Given the description of an element on the screen output the (x, y) to click on. 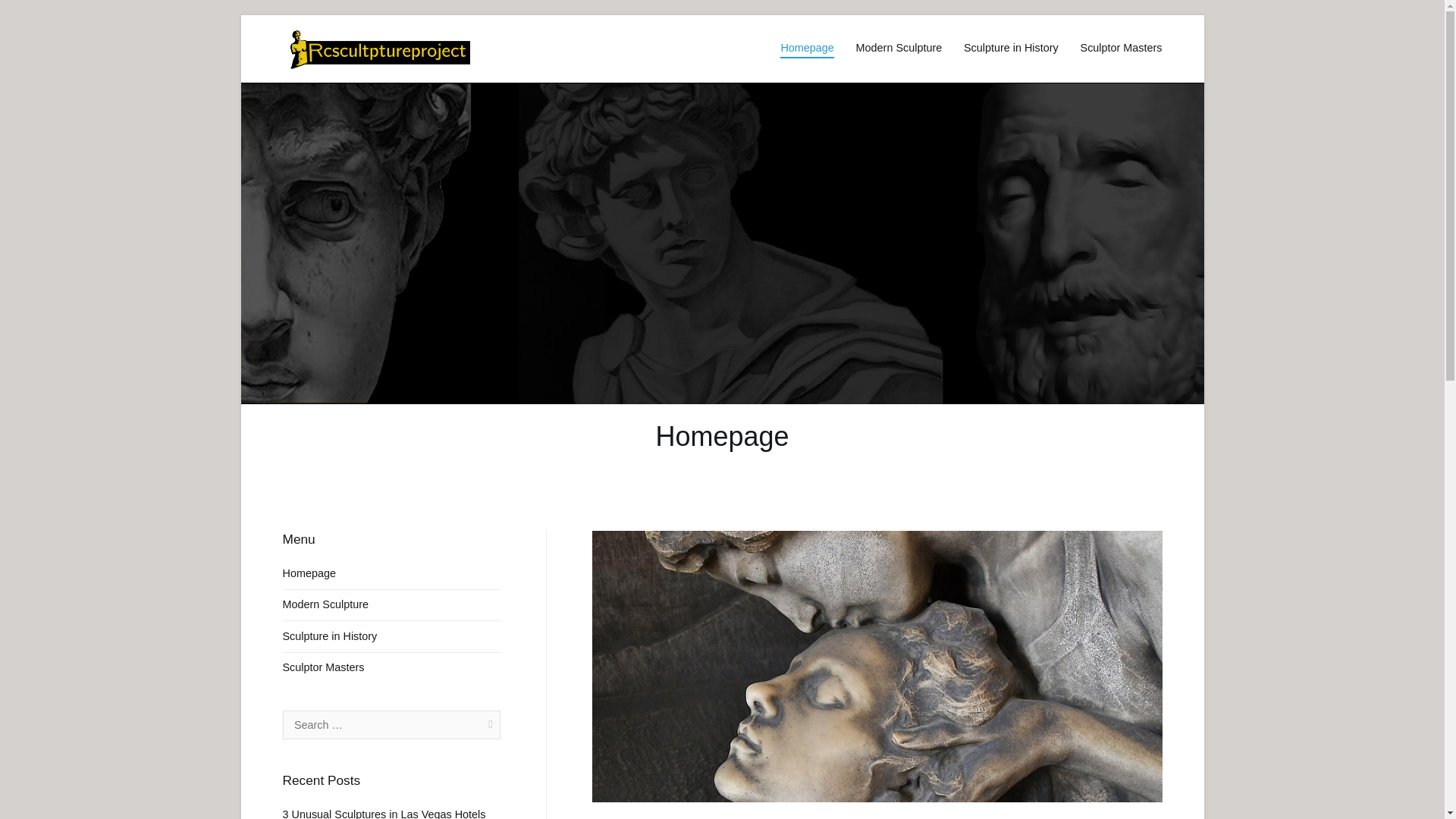
Sculpture in History (1010, 48)
Modern Sculpture (899, 48)
rcsculptureproject.com (574, 58)
3 Unusual Sculptures in Las Vegas Hotels and Casinos (390, 809)
Homepage (308, 573)
Modern Sculpture (325, 604)
Homepage (806, 48)
Search (28, 13)
Sculptor Masters (1120, 48)
